Given the description of an element on the screen output the (x, y) to click on. 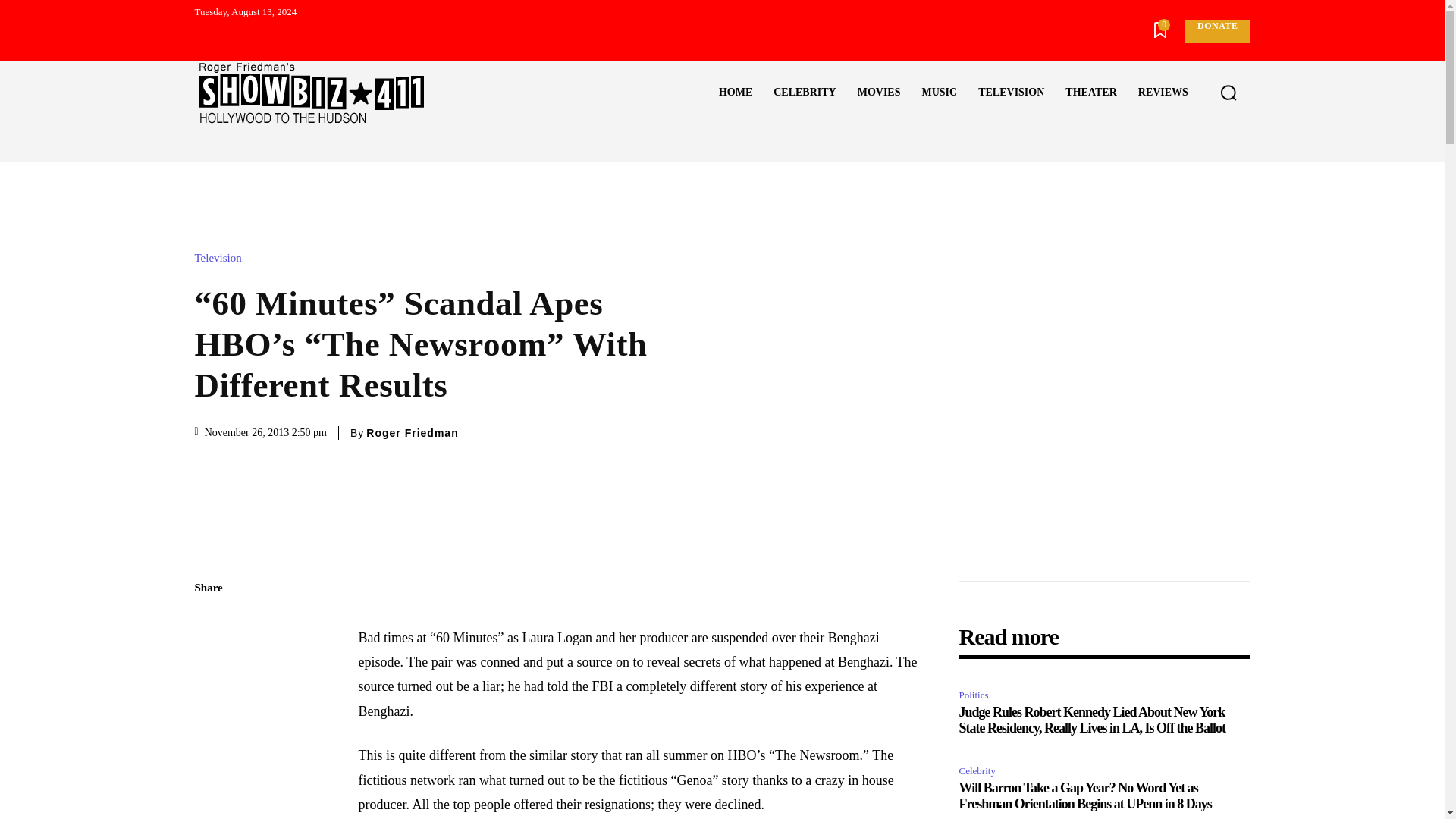
TELEVISION (1011, 92)
Donate (1217, 31)
Television (220, 257)
HOME (734, 92)
MUSIC (939, 92)
CELEBRITY (803, 92)
REVIEWS (1162, 92)
DONATE (1217, 31)
MOVIES (879, 92)
THEATER (1090, 92)
